Given the description of an element on the screen output the (x, y) to click on. 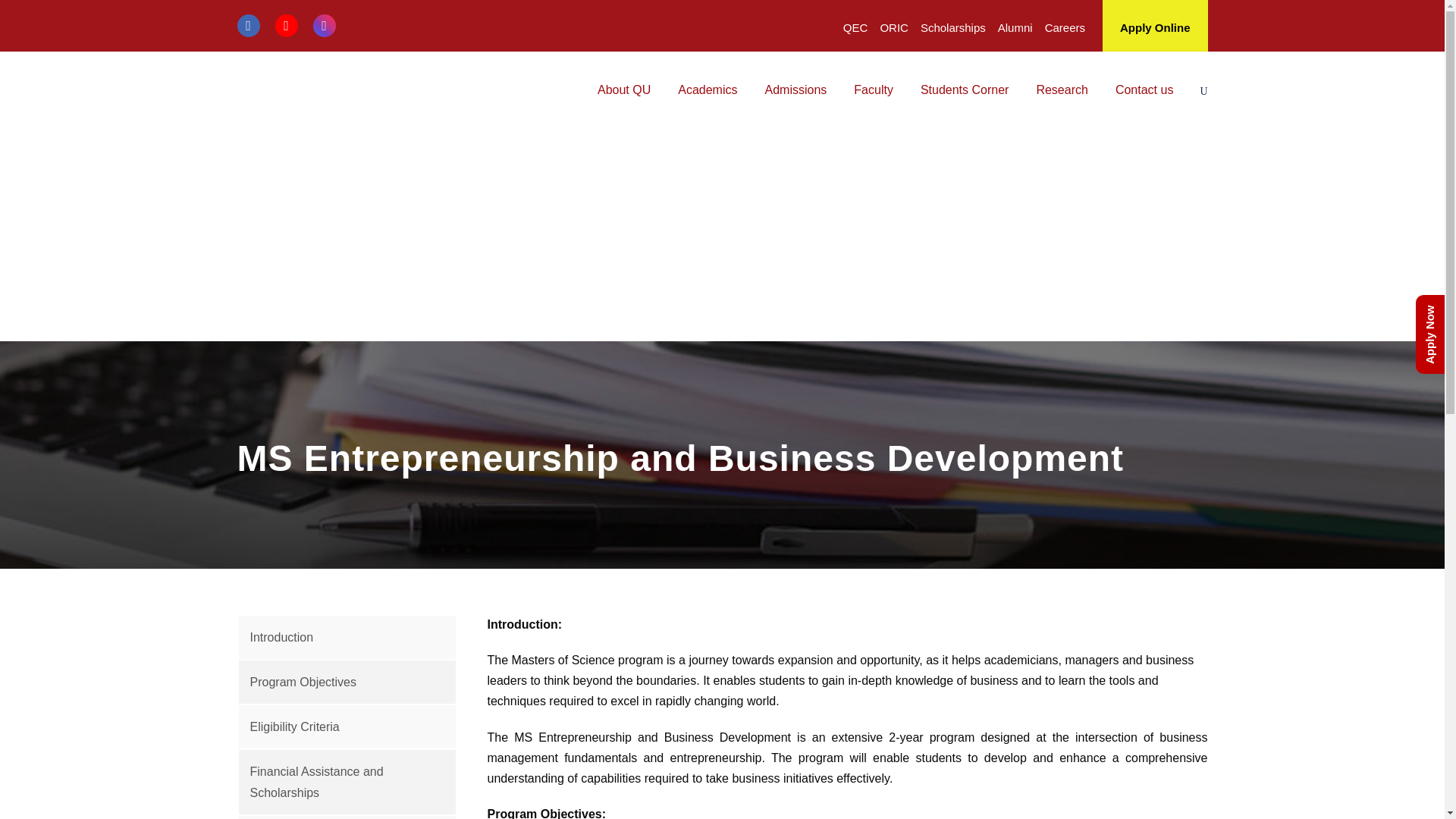
facebook (247, 25)
instagram (323, 25)
youtube (286, 25)
